Given the description of an element on the screen output the (x, y) to click on. 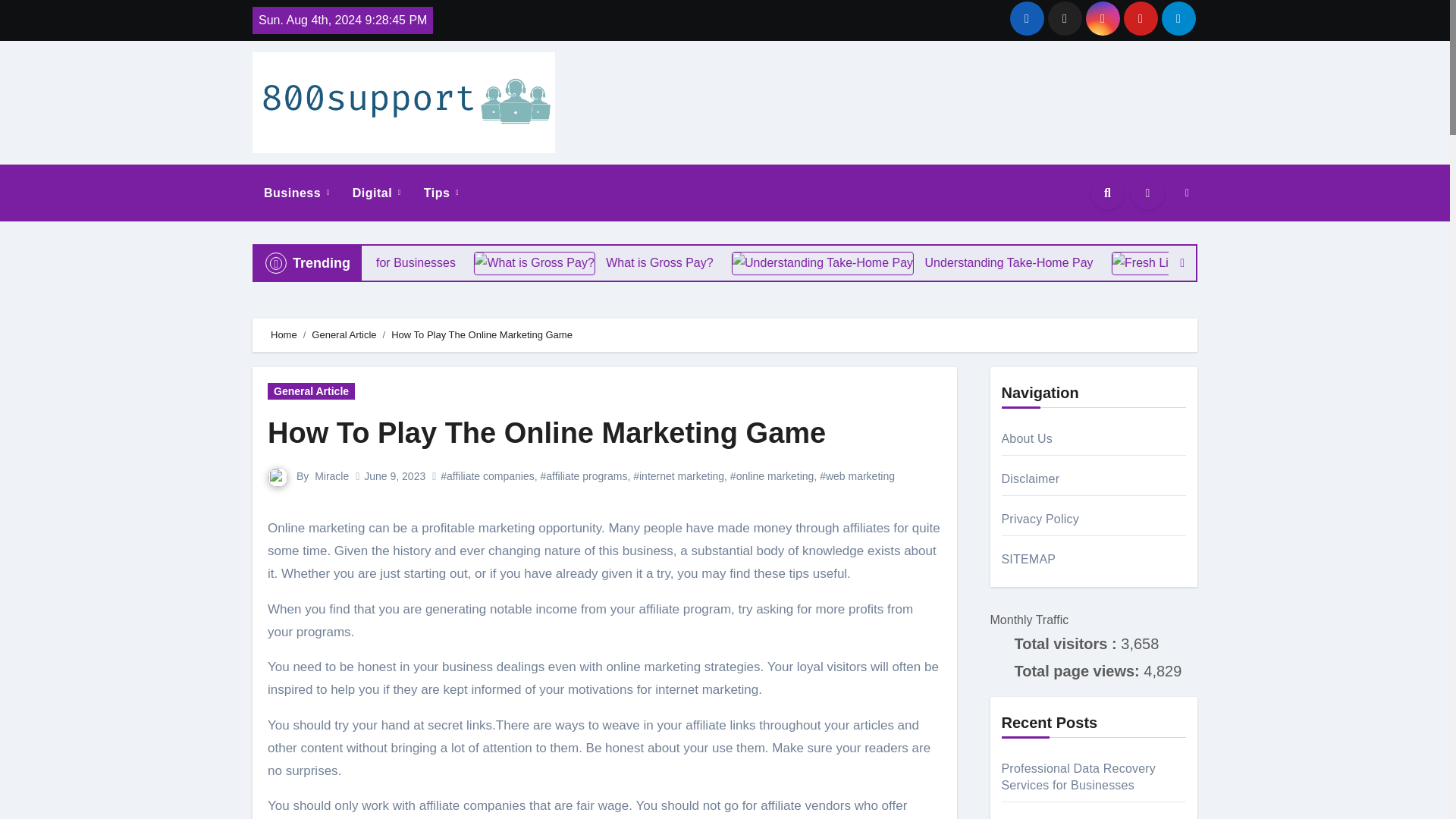
Understanding Take-Home Pay (1009, 262)
Digital (376, 193)
Understanding Take-Home Pay (887, 262)
What is Gross Pay? (601, 262)
Digital (376, 193)
Tips (441, 193)
What is Gross Pay? (664, 262)
Business (295, 193)
Understanding Take-Home Pay (979, 262)
Tips (441, 193)
What is Gross Pay? (691, 262)
General Article (343, 334)
Professional Data Recovery Services for Businesses (365, 262)
General Article (311, 391)
Professional Data Recovery Services for Businesses (392, 262)
